Given the description of an element on the screen output the (x, y) to click on. 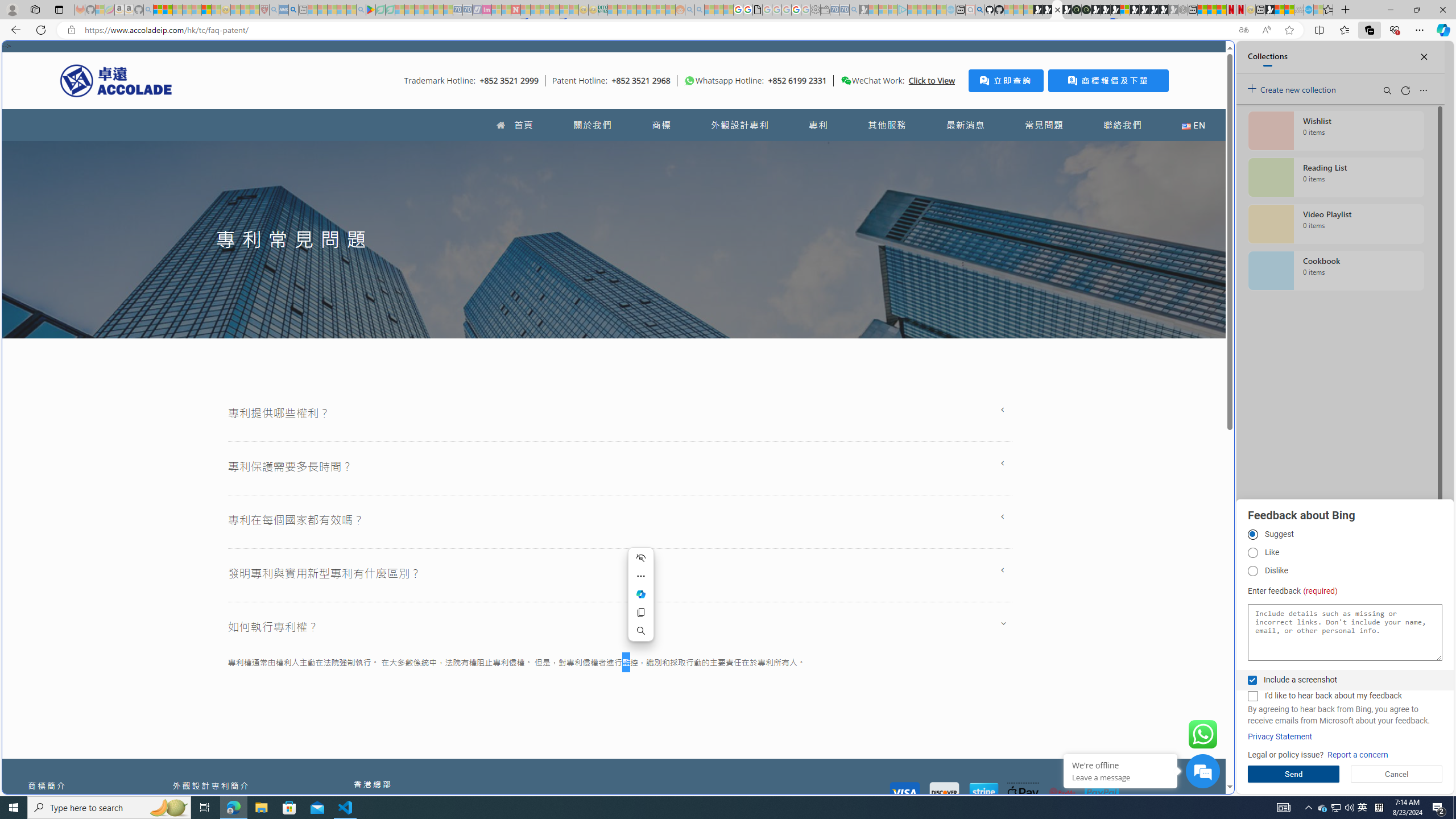
Sign in to your account (1124, 9)
EN (1193, 124)
utah sues federal government - Search (292, 9)
Local - MSN - Sleeping (254, 9)
Search or enter web address (922, 108)
Play Cave FRVR in your browser | Games from Microsoft Start (922, 242)
